Given the description of an element on the screen output the (x, y) to click on. 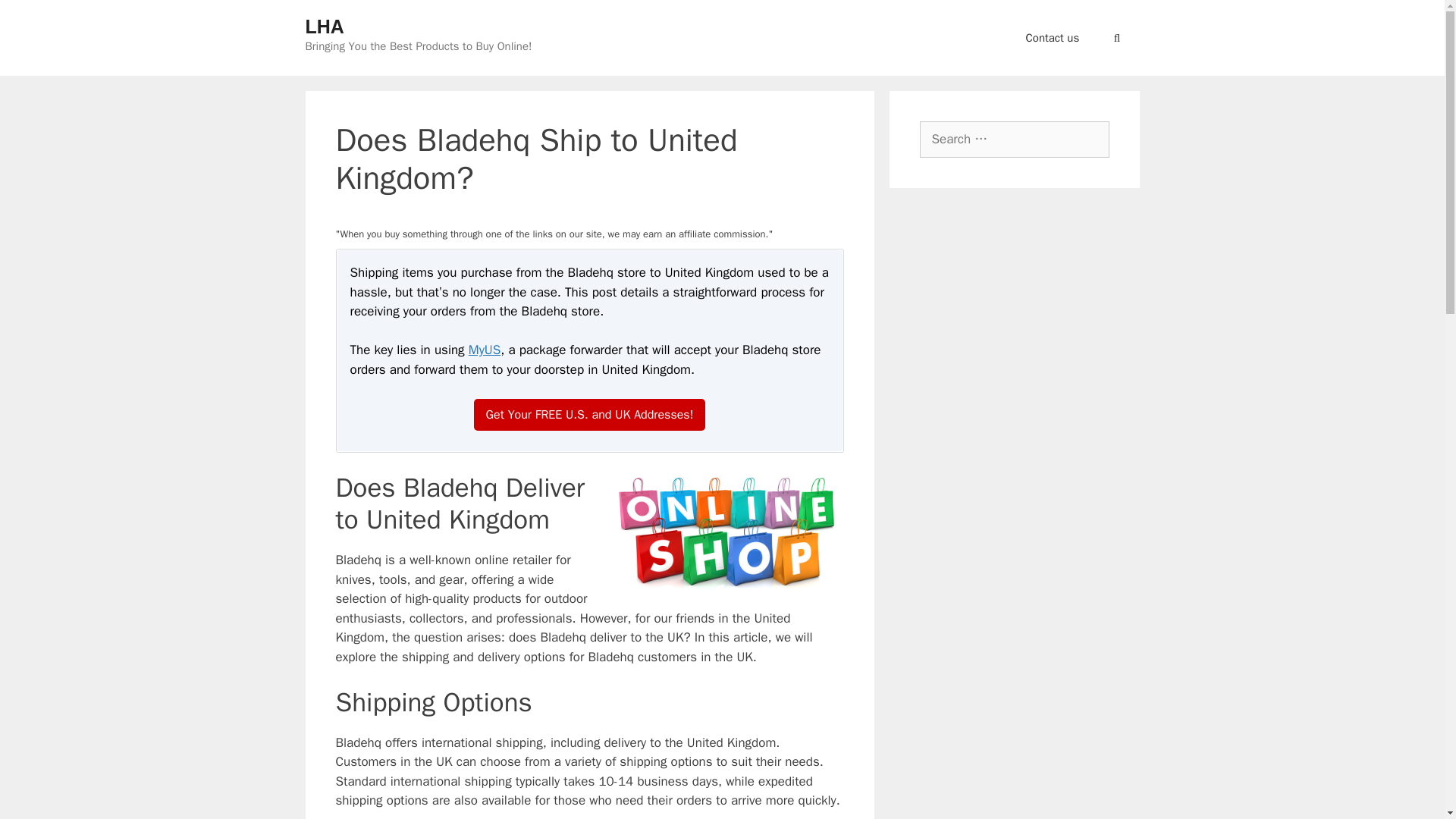
MyUS (484, 349)
Search (33, 15)
Contact us (1052, 37)
Get Your FREE U.S. and UK Addresses! (590, 414)
LHA (323, 25)
Search for: (1013, 139)
